Given the description of an element on the screen output the (x, y) to click on. 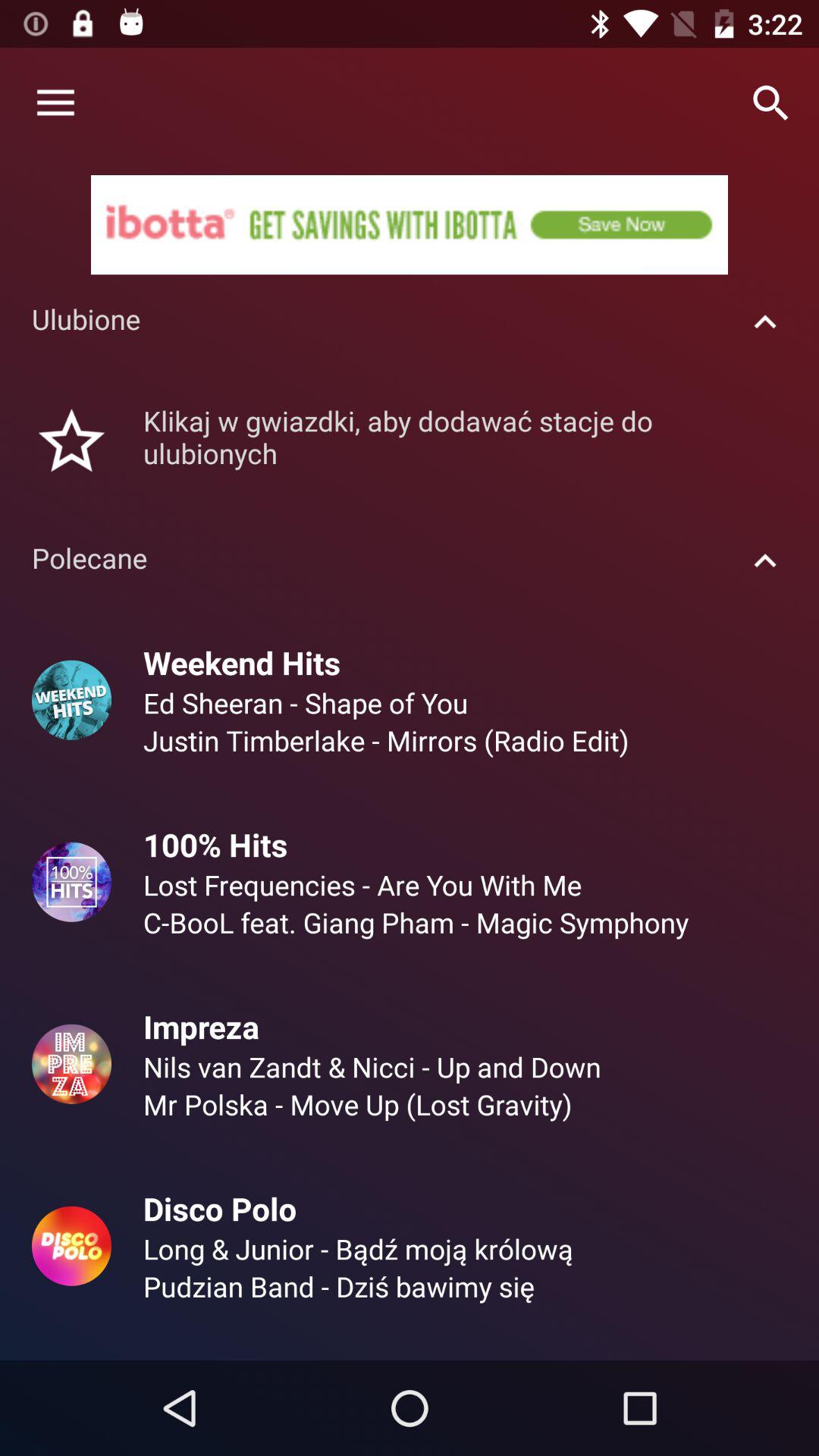
click the advertisement (409, 224)
